Given the description of an element on the screen output the (x, y) to click on. 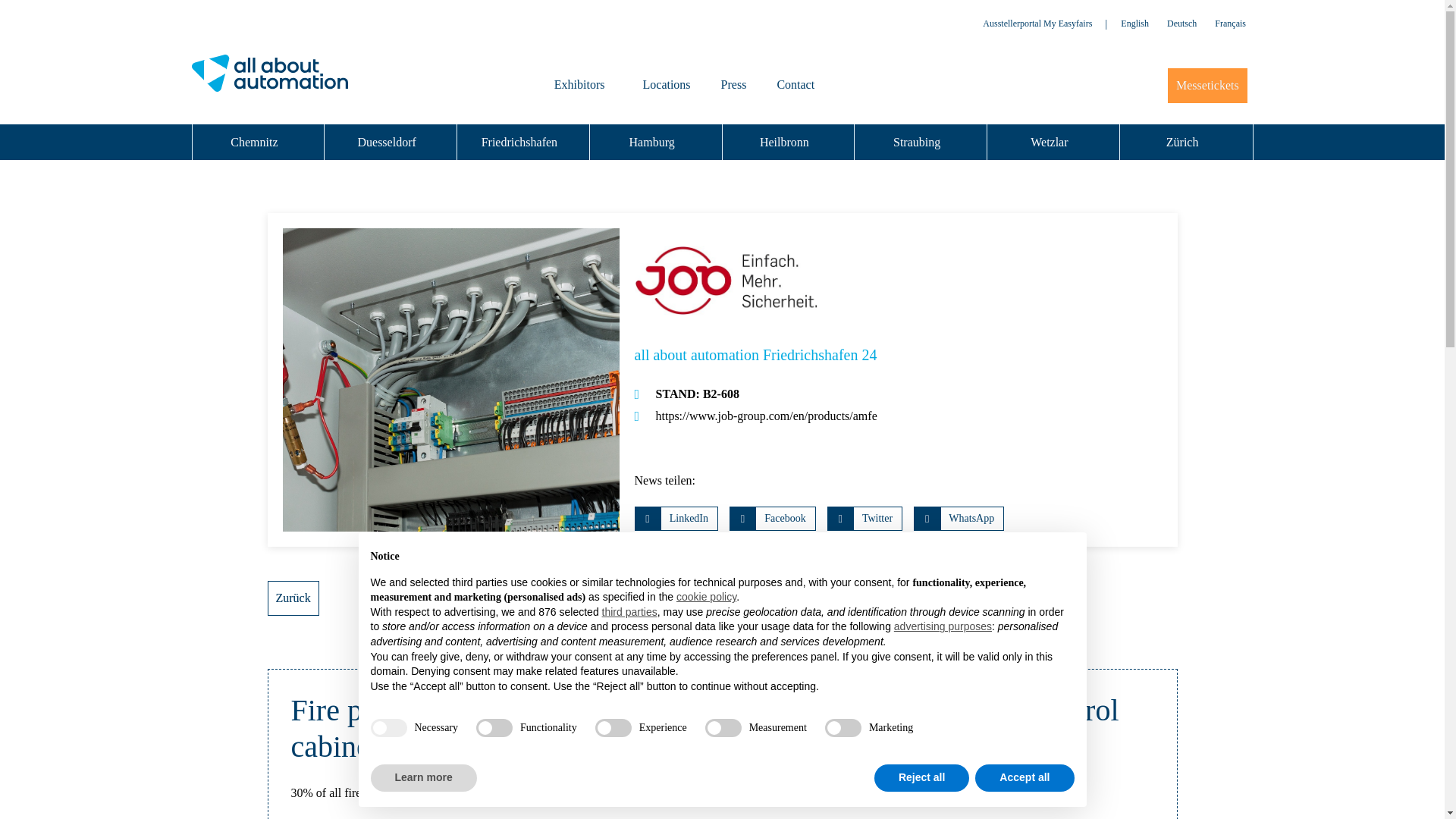
Messetickets (1207, 85)
Locations (666, 85)
English (1134, 23)
false (843, 728)
false (722, 728)
Press (733, 85)
false (613, 728)
Ausstellerportal My Easyfairs (1037, 23)
Chemnitz (258, 141)
false (494, 728)
Exhibitors (582, 85)
Duesseldorf (390, 141)
Contact (795, 85)
Deutsch (1181, 23)
true (387, 728)
